Given the description of an element on the screen output the (x, y) to click on. 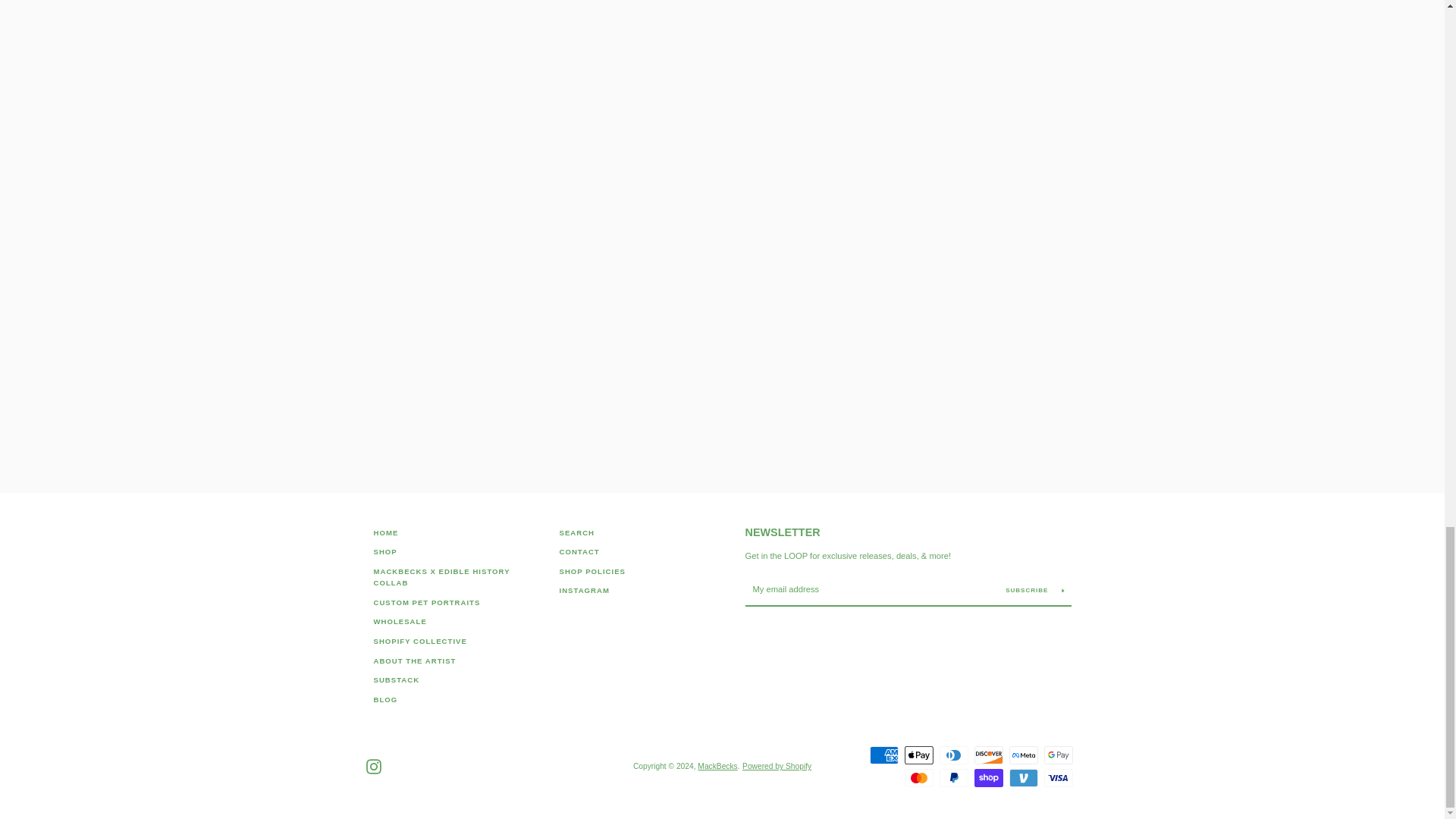
American Express (883, 755)
Apple Pay (918, 755)
Discover (988, 755)
Diners Club (953, 755)
Meta Pay (1022, 755)
Venmo (1022, 778)
PayPal (953, 778)
Google Pay (1057, 755)
Mastercard (918, 778)
MackBecks on Instagram (372, 765)
Visa (1057, 778)
Shop Pay (988, 778)
